Given the description of an element on the screen output the (x, y) to click on. 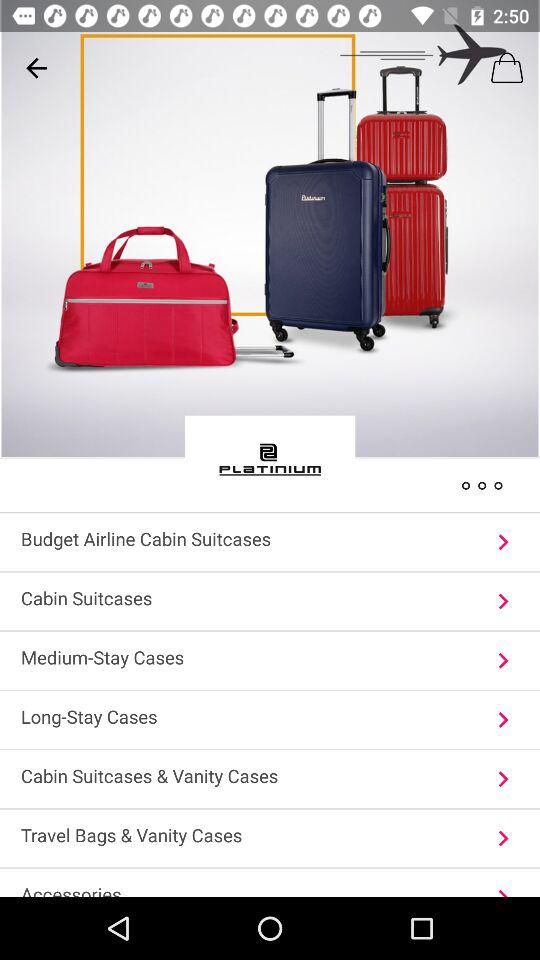
click on next icon of mediumstay cases (503, 660)
click on the icon which is right to longstay cases (503, 719)
click on the icon which is right to cabin suitcase (503, 601)
click on the second icon from the bottom of the page (503, 838)
click on button next to cabin suitcases  vanity cases (503, 779)
click on 3 horizontal dots (482, 484)
